Given the description of an element on the screen output the (x, y) to click on. 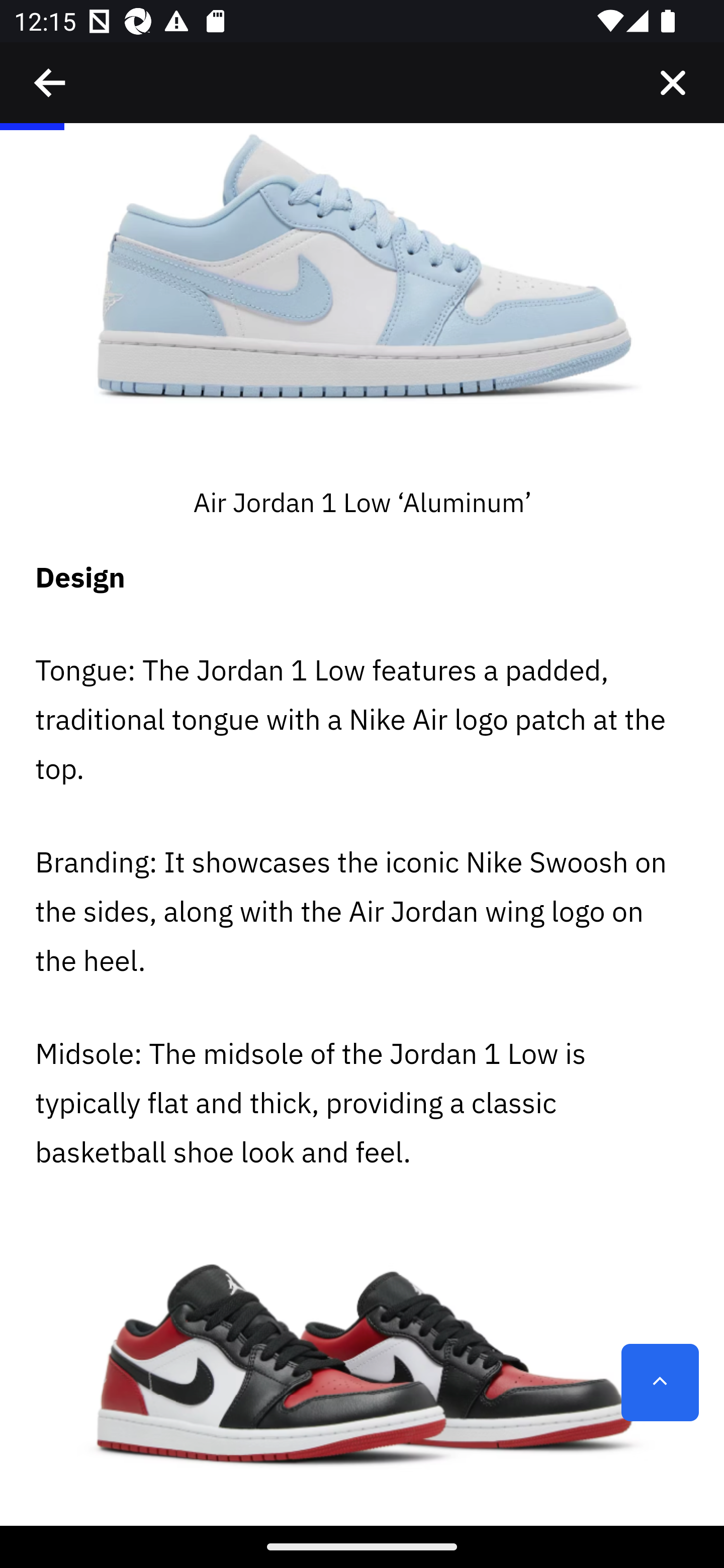
 (50, 83)
 (672, 83)
(Women) Air Jordan 1 Low 'Aluminum' DC0774‑141 (361, 302)
Scroll to top  (659, 1382)
